Given the description of an element on the screen output the (x, y) to click on. 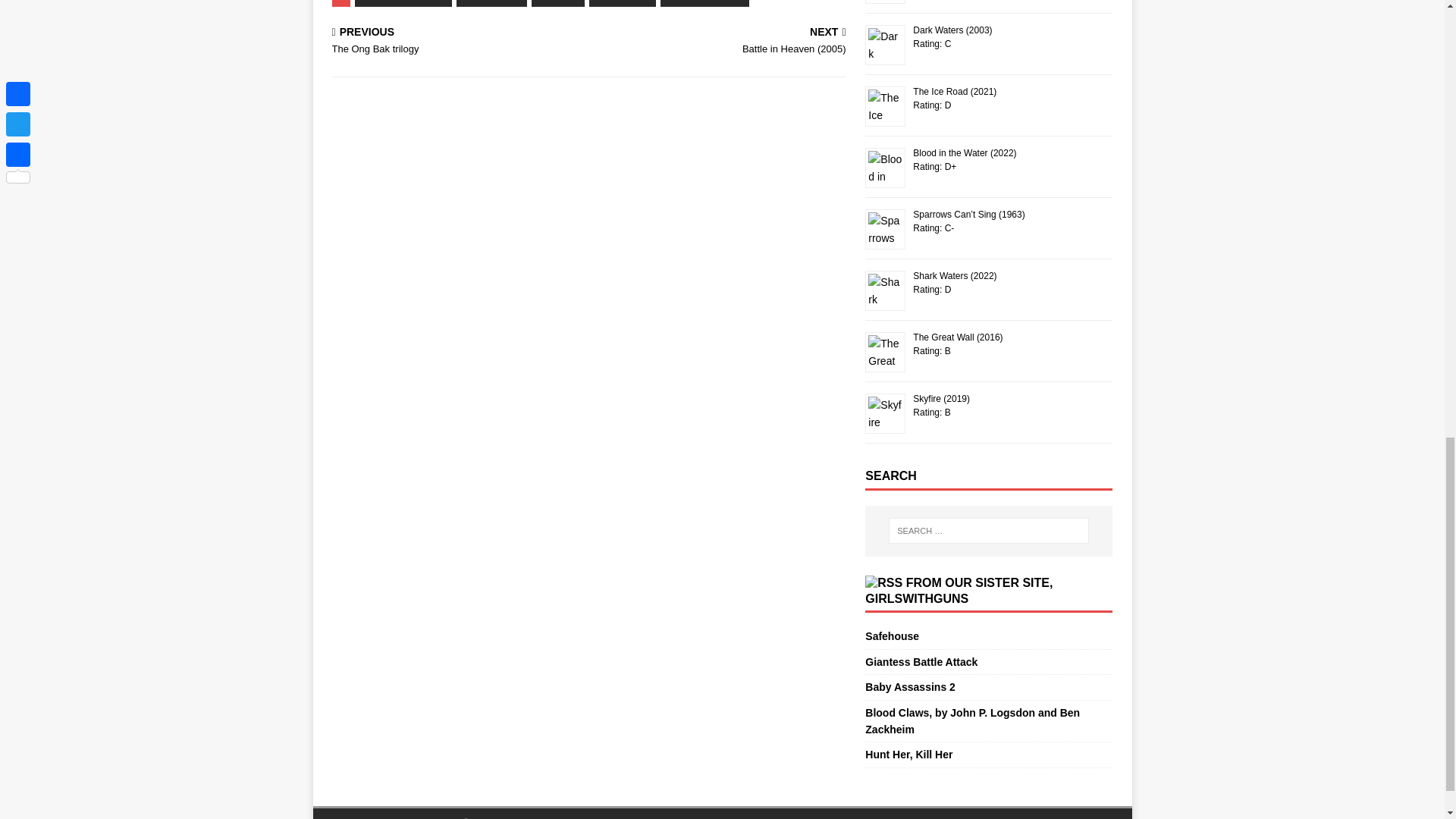
CATHEE SHULTZ (403, 3)
DAN LUND (492, 3)
JOHN TUCKER (457, 41)
JD HEALY (705, 3)
DEATH (622, 3)
